Given the description of an element on the screen output the (x, y) to click on. 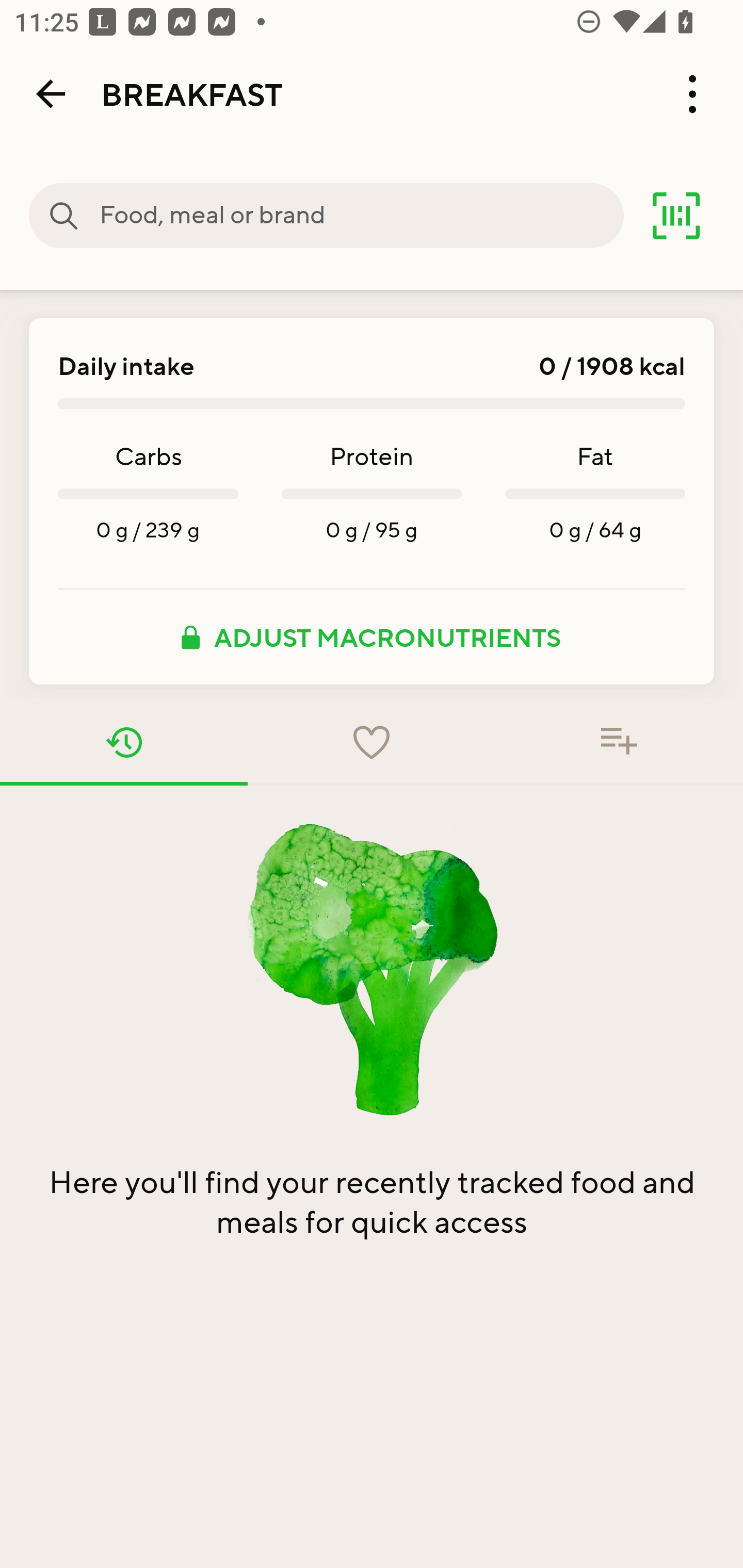
Back (50, 93)
Food, meal or brand (63, 215)
Food, meal or brand (361, 215)
ADJUST MACRONUTRIENTS (371, 637)
Favorites (371, 742)
Food added (619, 742)
